Given the description of an element on the screen output the (x, y) to click on. 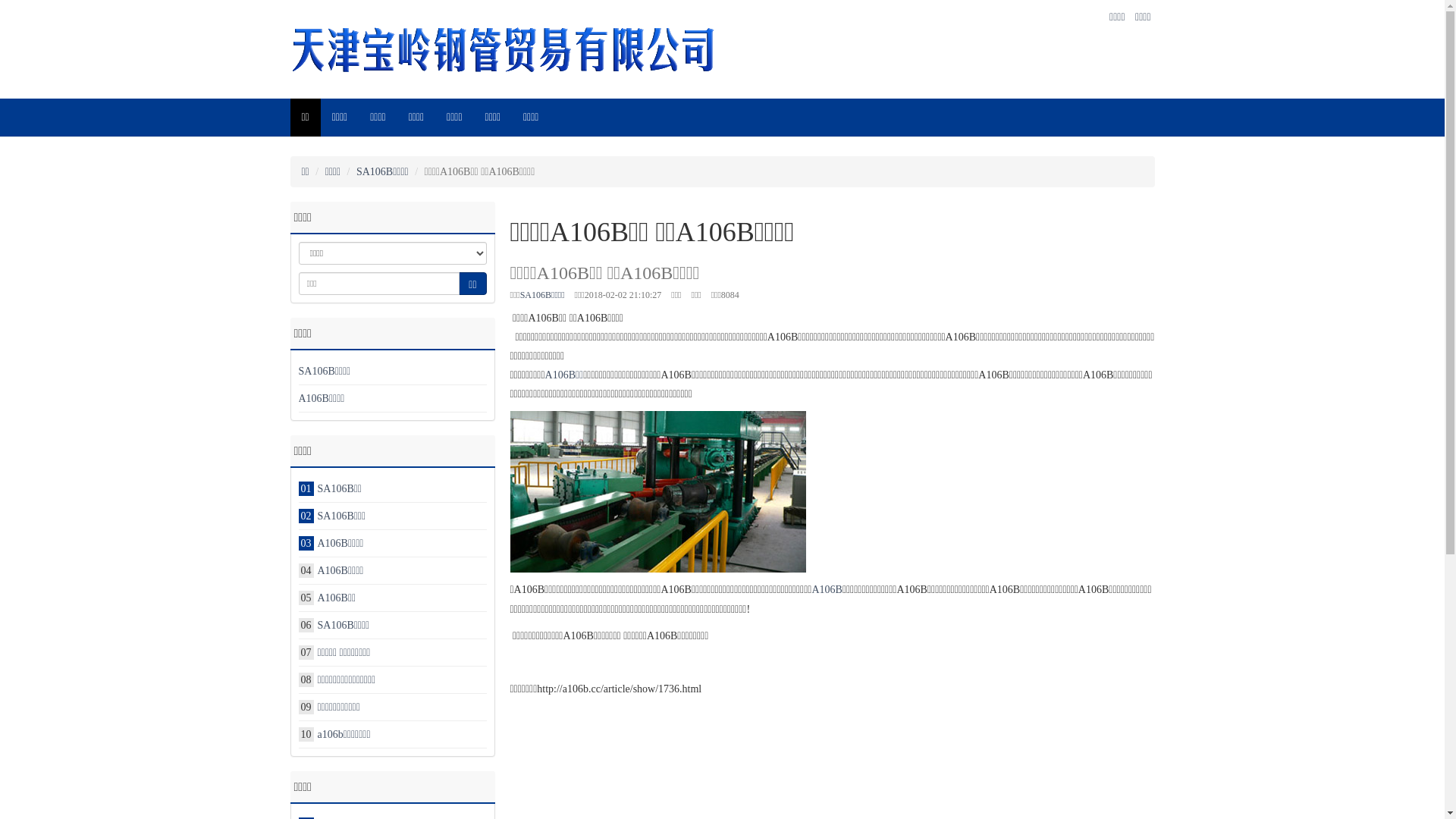
1517576991871420.jpg Element type: hover (657, 491)
A106B Element type: text (826, 589)
